Given the description of an element on the screen output the (x, y) to click on. 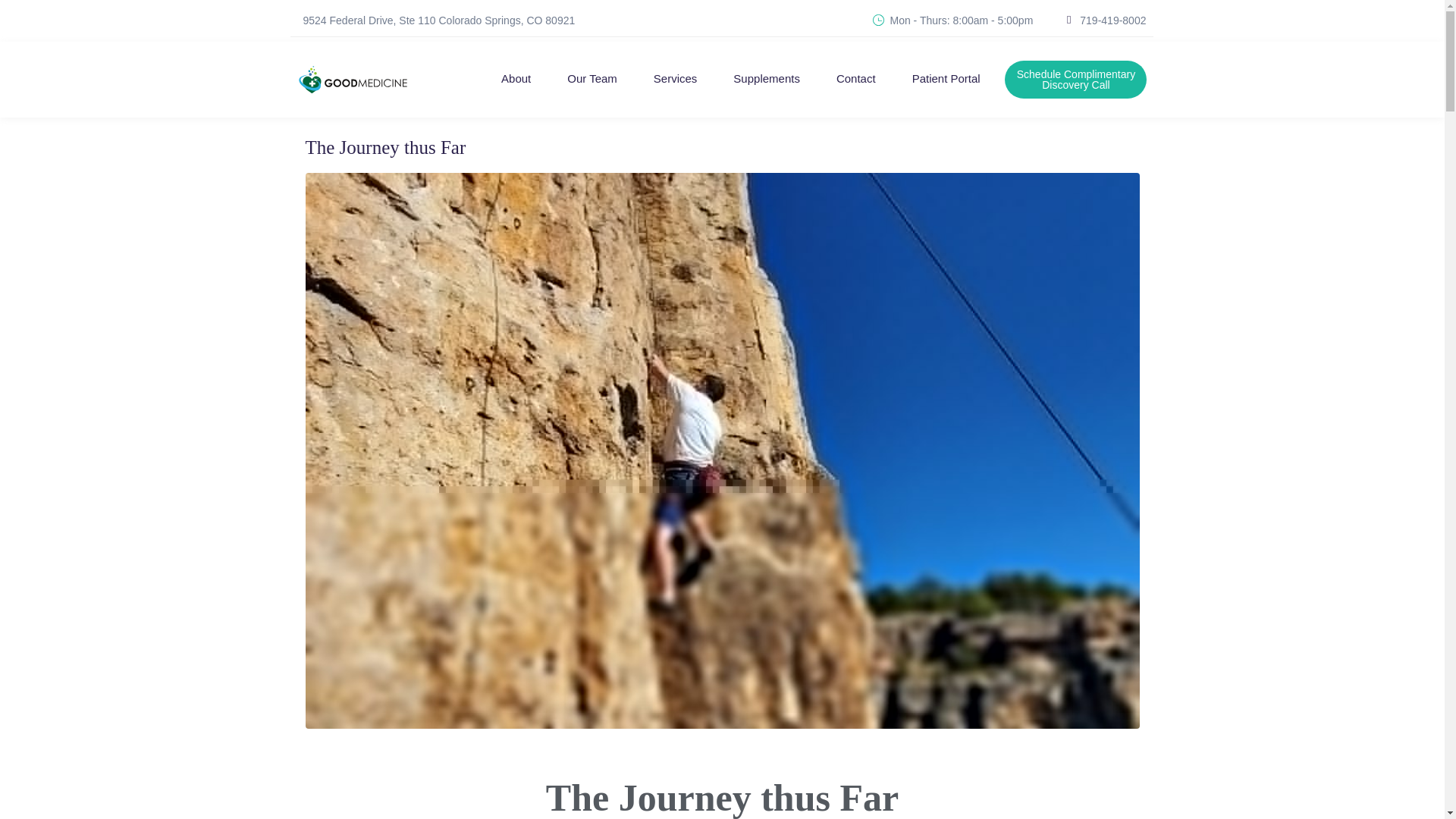
The Journey thus Far (384, 147)
The Journey thus Far (721, 449)
Patient Portal (946, 79)
719-419-8002 (1112, 20)
Our Team (591, 79)
Supplements (766, 79)
9524 Federal Drive, Ste 110 Colorado Springs, CO 80921 (438, 20)
